Given the description of an element on the screen output the (x, y) to click on. 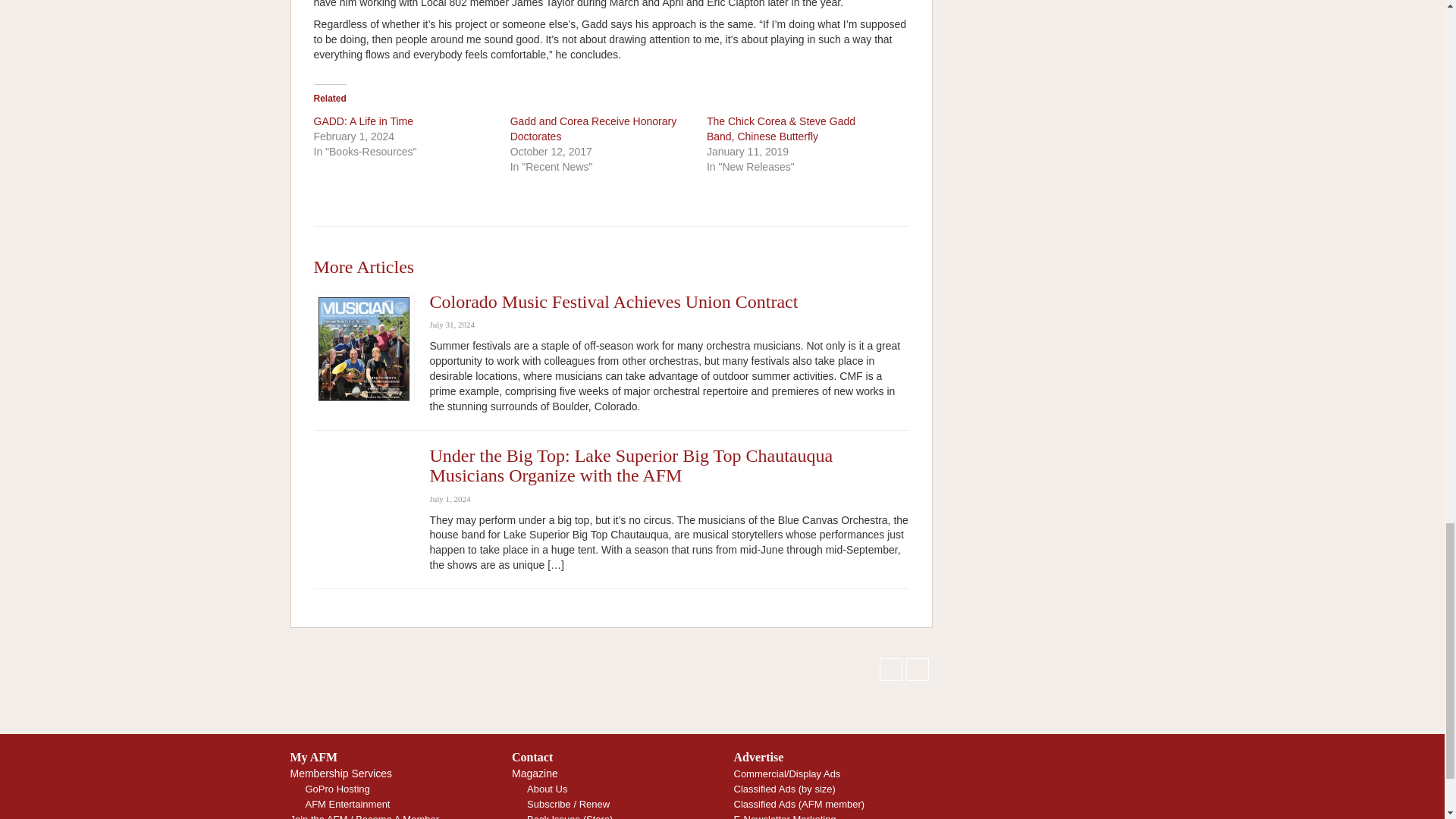
GADD: A Life in Time (363, 121)
Gadd and Corea Receive Honorary Doctorates (594, 128)
Colorado Music Festival Achieves Union Contract (613, 301)
